Given the description of an element on the screen output the (x, y) to click on. 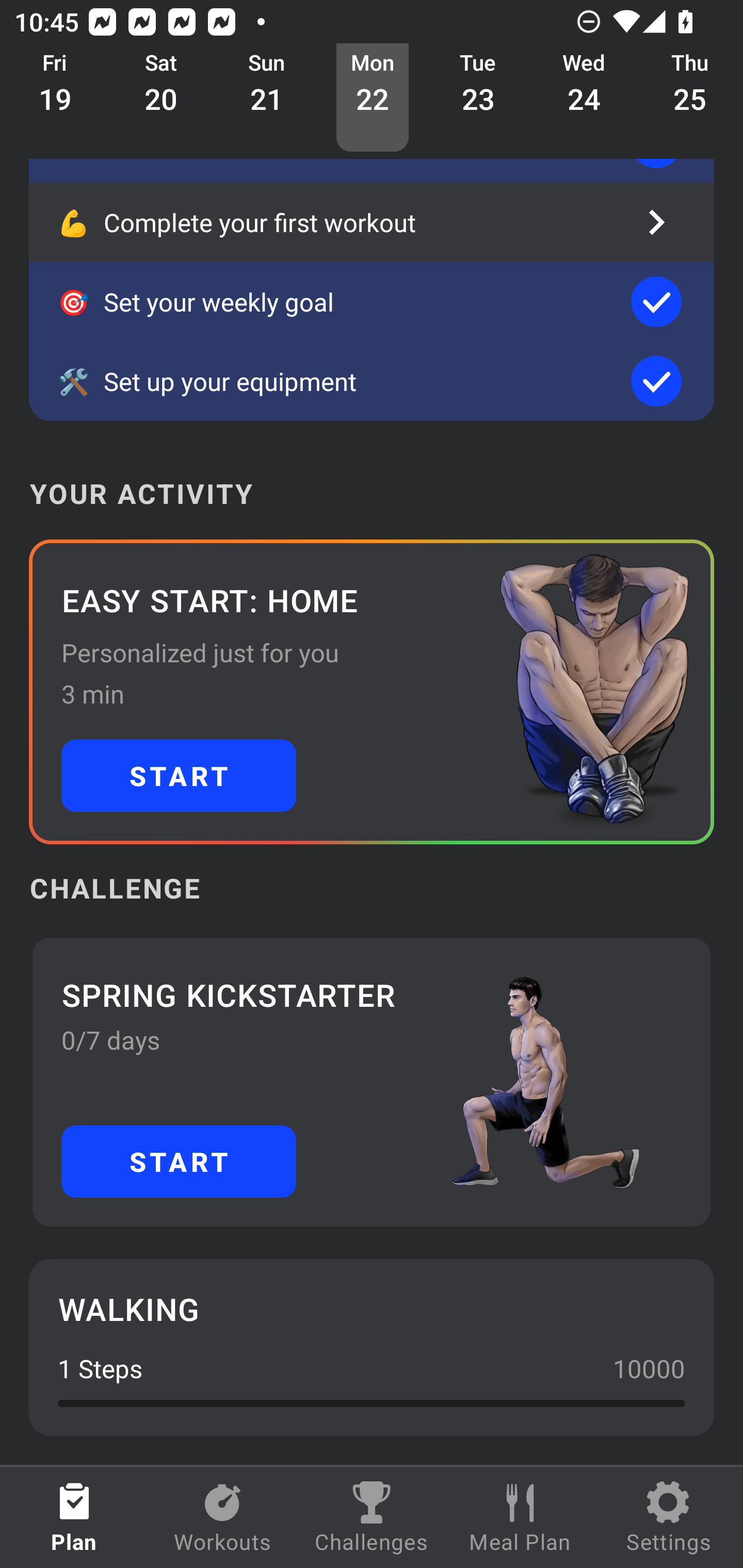
Fri 19 (55, 97)
Sat 20 (160, 97)
Sun 21 (266, 97)
Mon 22 (372, 97)
Tue 23 (478, 97)
Wed 24 (584, 97)
Thu 25 (690, 97)
💪 Complete your first workout (371, 221)
START (178, 776)
SPRING KICKSTARTER 0/7 days START (371, 1082)
START (178, 1161)
WALKING 1 Steps 10000 0.0 (371, 1347)
 Workouts  (222, 1517)
 Challenges  (371, 1517)
 Meal Plan  (519, 1517)
 Settings  (668, 1517)
